Given the description of an element on the screen output the (x, y) to click on. 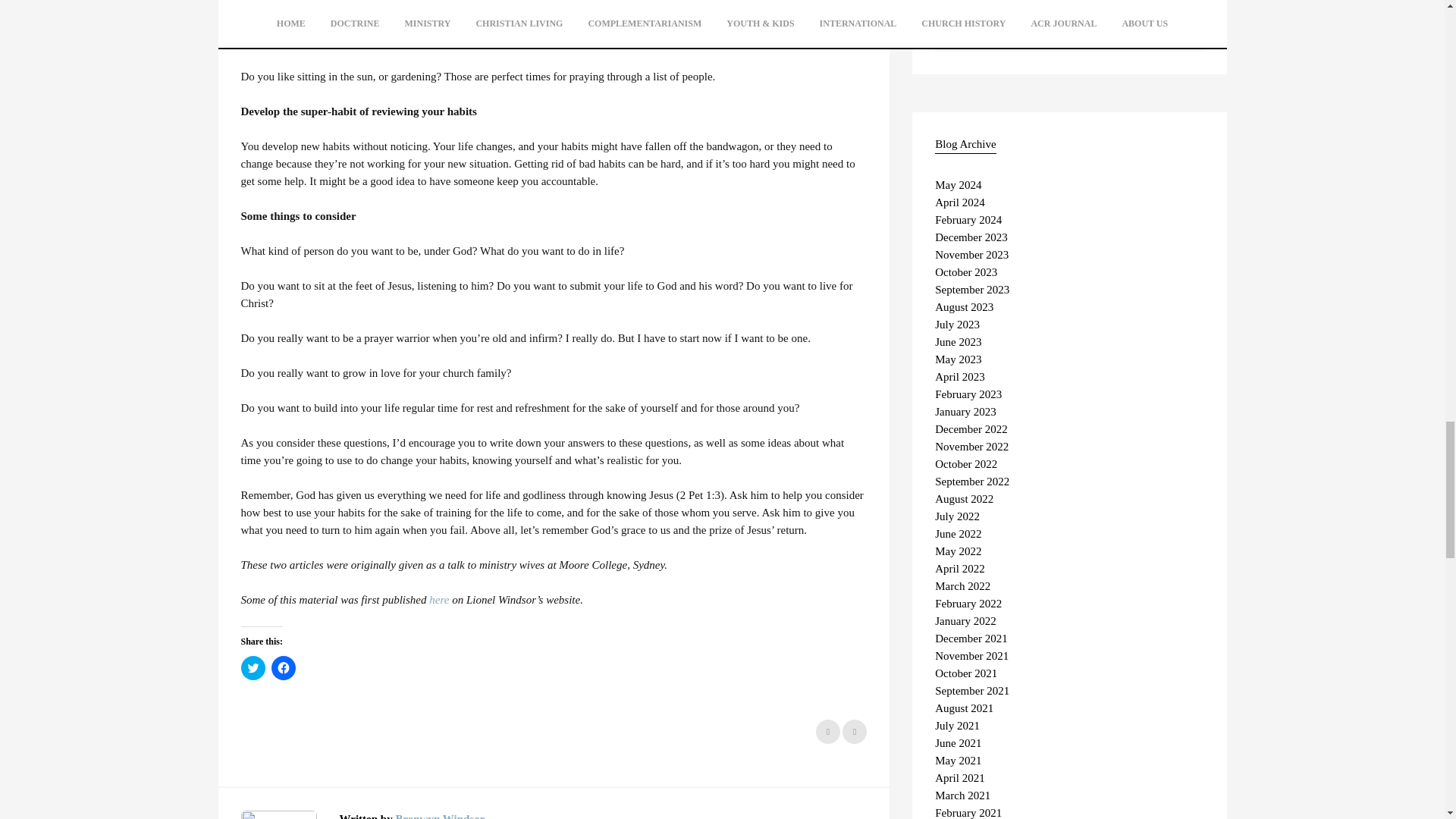
here (438, 599)
Click to share on Facebook (282, 668)
Click to share on Twitter (252, 668)
Bronwyn Windsor (439, 816)
